Given the description of an element on the screen output the (x, y) to click on. 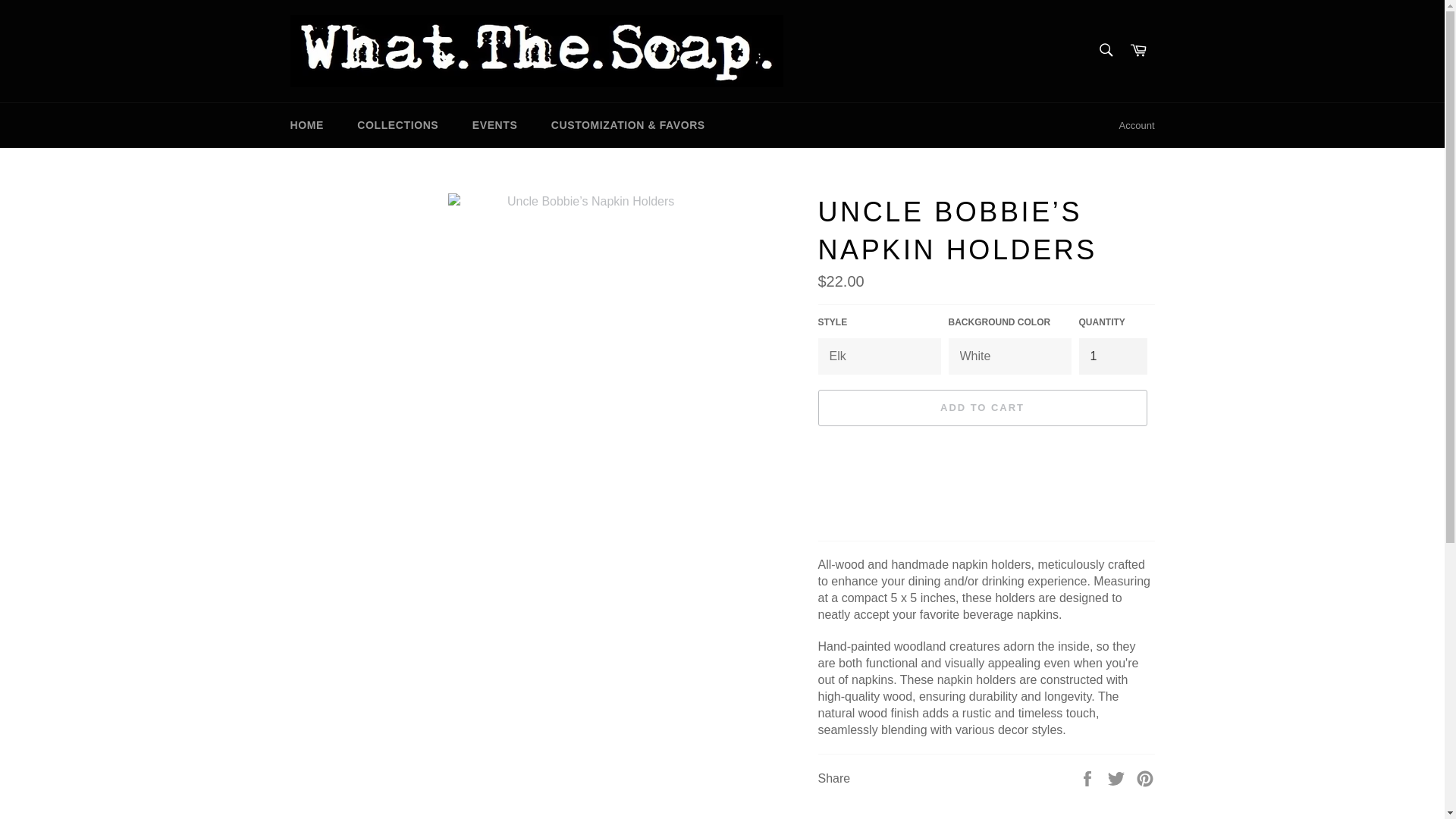
1 (1112, 356)
HOME (306, 125)
Tweet on Twitter (1117, 777)
Cart (1138, 50)
ADD TO CART (981, 407)
COLLECTIONS (397, 125)
Share on Facebook (1088, 777)
Search (1104, 50)
Tweet on Twitter (1117, 777)
Pin on Pinterest (1144, 777)
Share on Facebook (1088, 777)
Account (1136, 126)
EVENTS (494, 125)
